Given the description of an element on the screen output the (x, y) to click on. 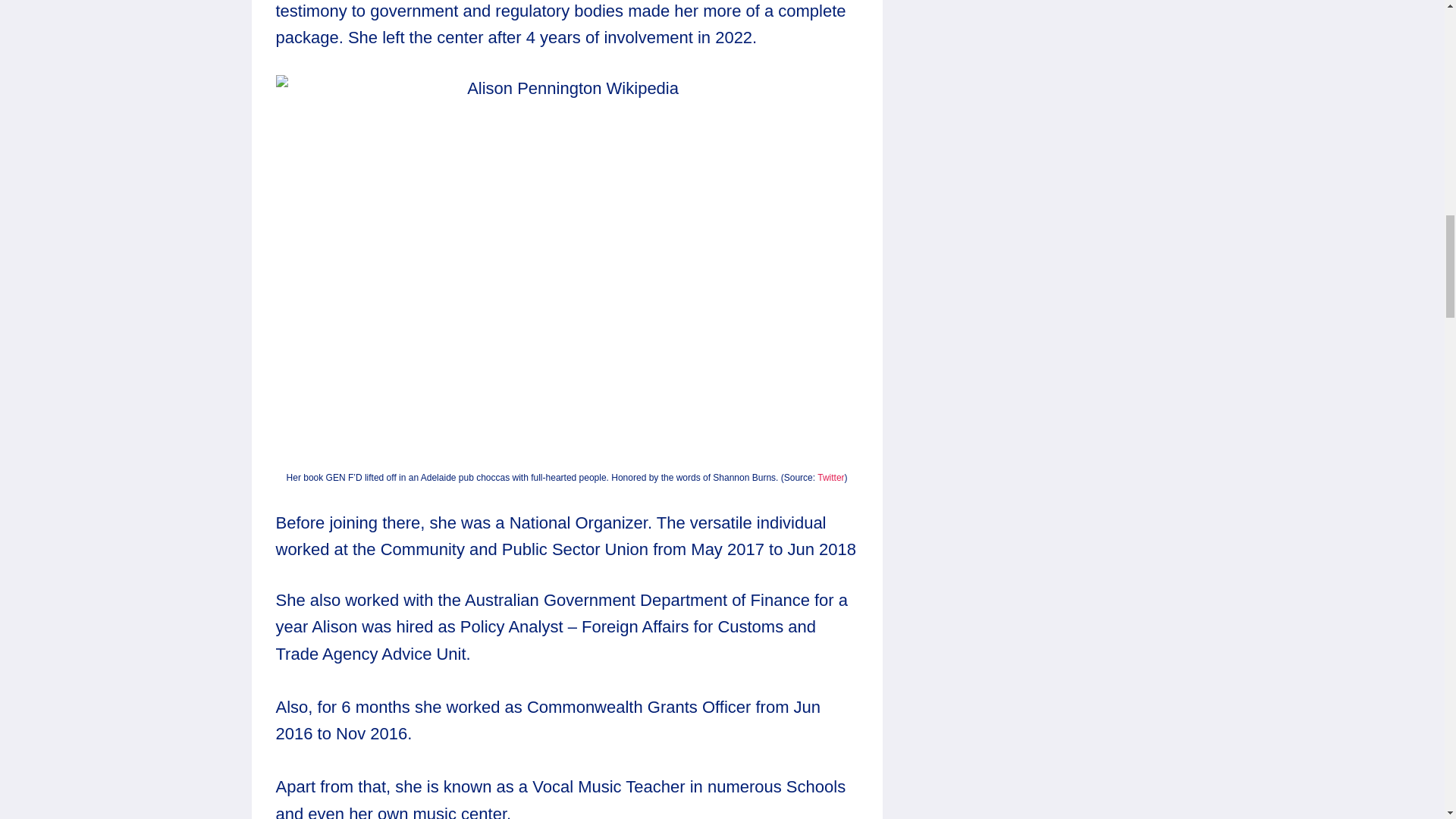
Twitter (830, 477)
